Given the description of an element on the screen output the (x, y) to click on. 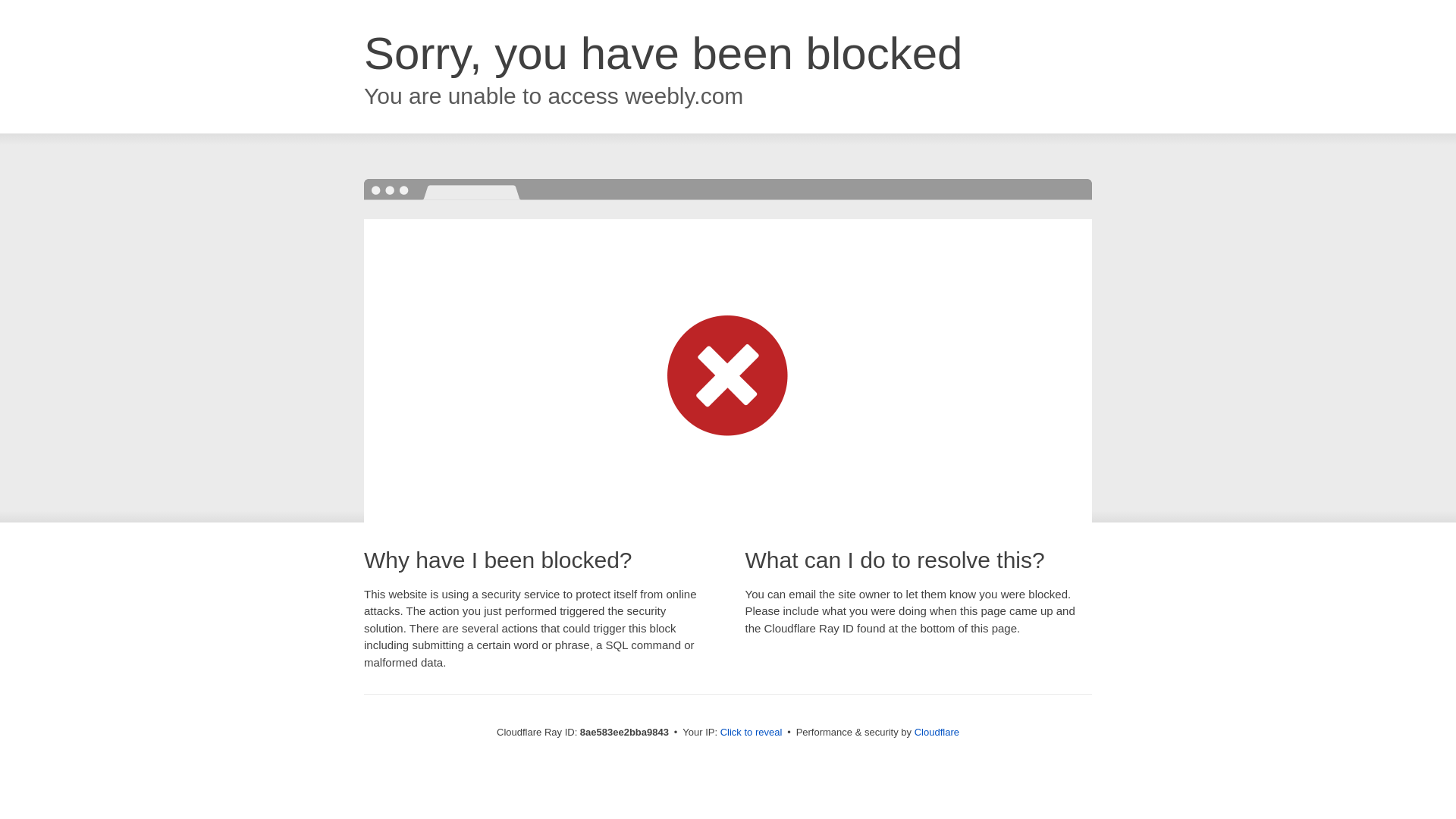
Click to reveal (751, 732)
Cloudflare (936, 731)
